Given the description of an element on the screen output the (x, y) to click on. 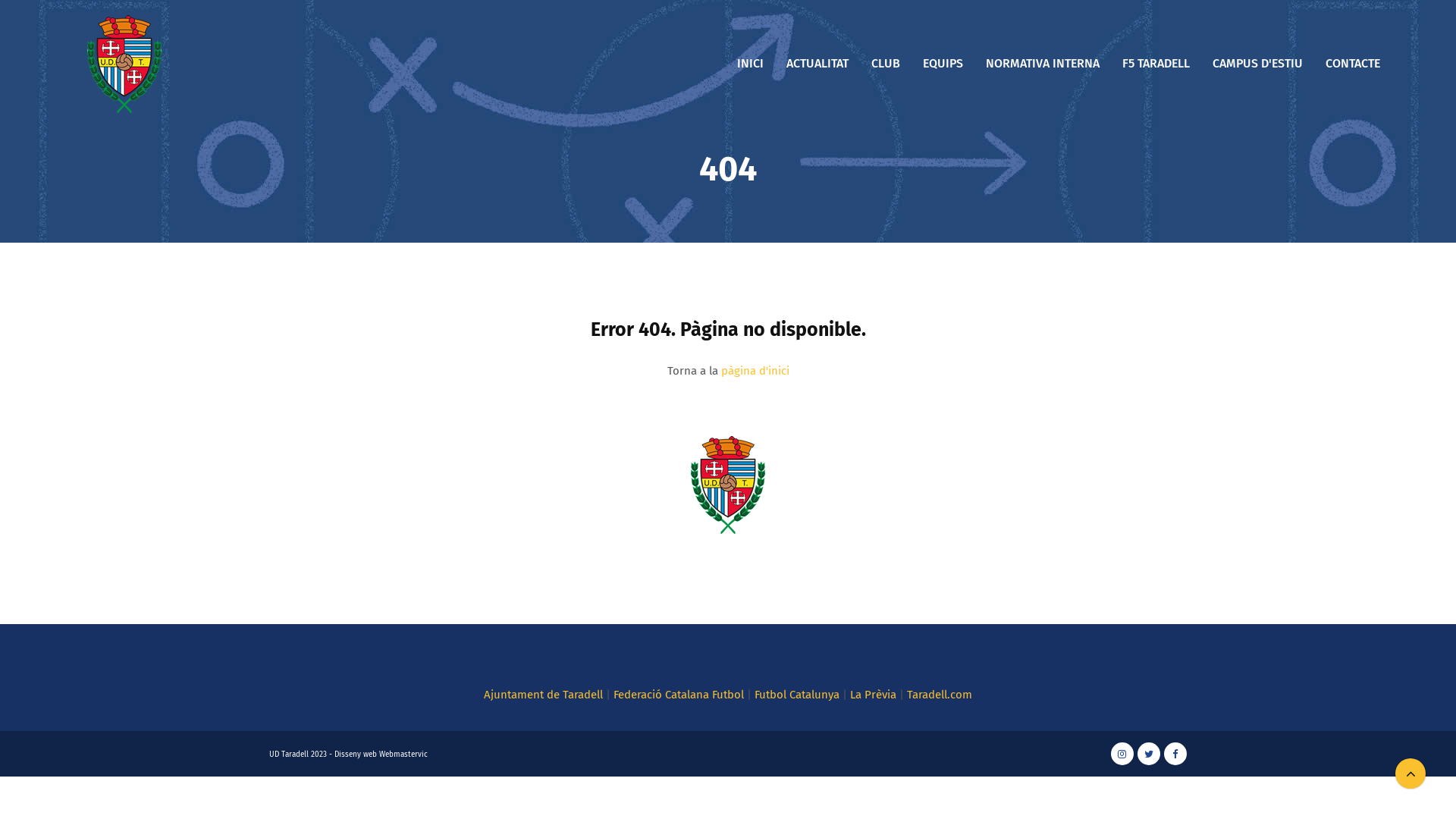
| Element type: text (607, 694)
ACTUALITAT Element type: text (817, 63)
NORMATIVA INTERNA Element type: text (1042, 63)
CLUB Element type: text (885, 63)
EQUIPS Element type: text (942, 63)
Taradell.com Element type: text (939, 694)
Futbol Catalunya Element type: text (796, 694)
F5 TARADELL Element type: text (1155, 63)
CONTACTE Element type: text (1352, 63)
INICI Element type: text (750, 63)
Ajuntament de Taradell Element type: text (542, 694)
UD Taradell 2023 - Disseny web Webmastervic Element type: text (348, 754)
CAMPUS D'ESTIU Element type: text (1257, 63)
